Given the description of an element on the screen output the (x, y) to click on. 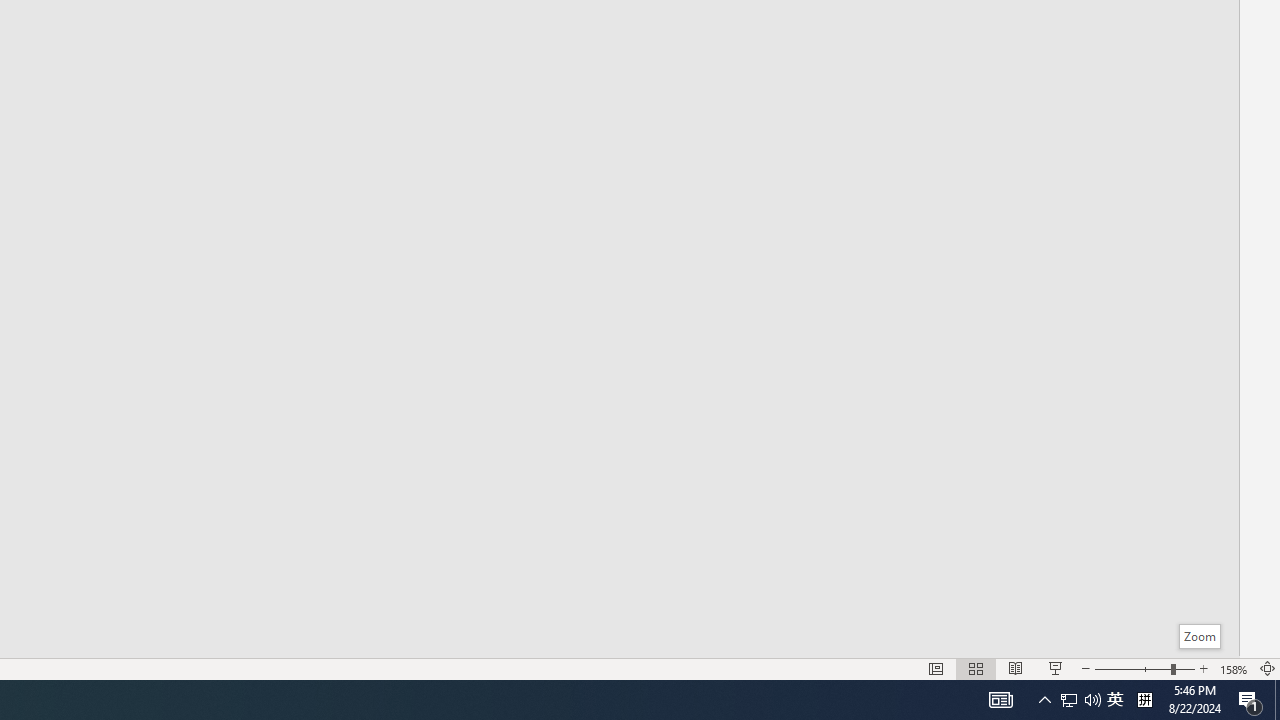
Zoom 158% (1234, 668)
